Given the description of an element on the screen output the (x, y) to click on. 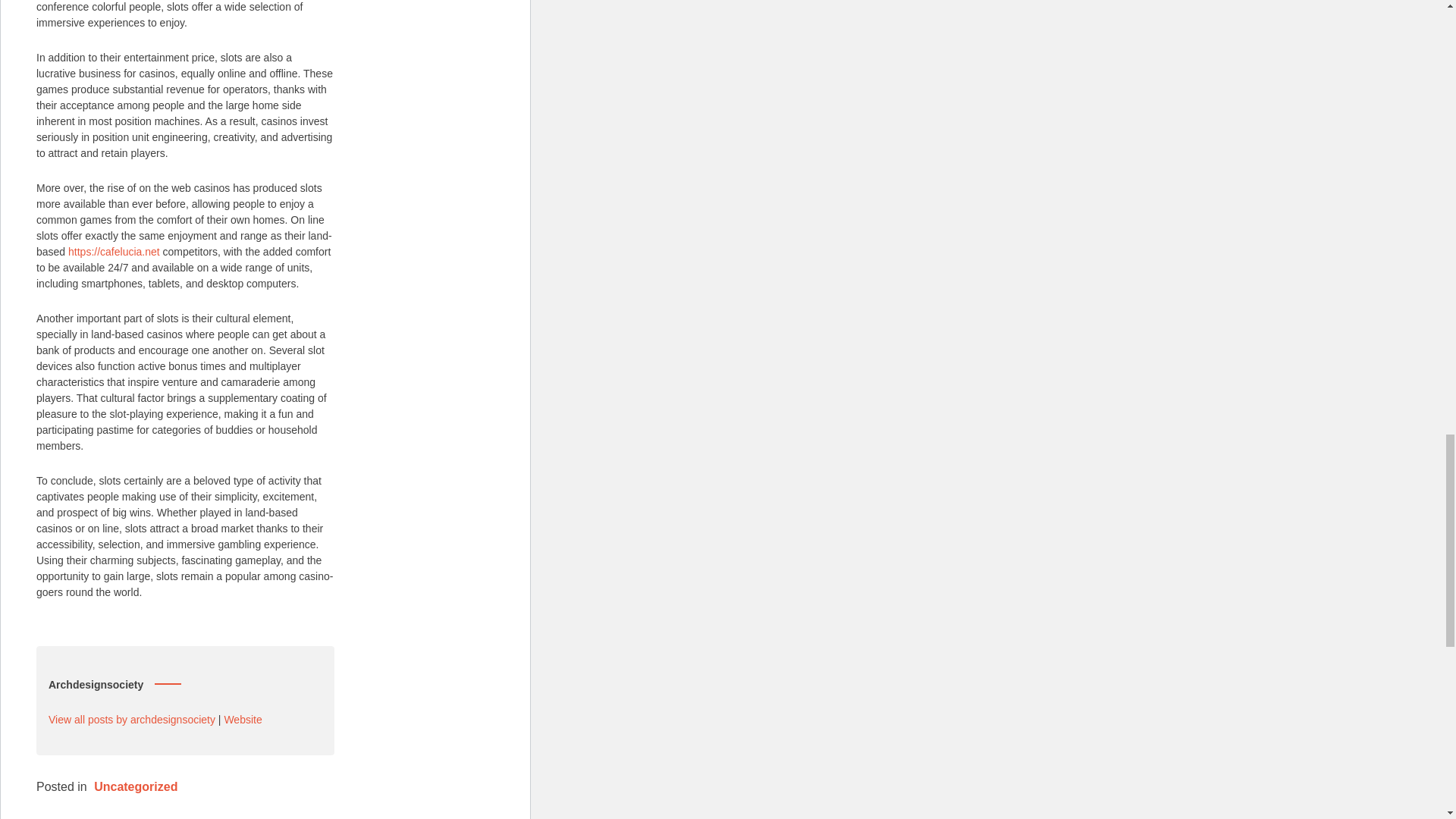
Uncategorized (135, 785)
View all posts by archdesignsociety (131, 718)
Website (243, 718)
